Given the description of an element on the screen output the (x, y) to click on. 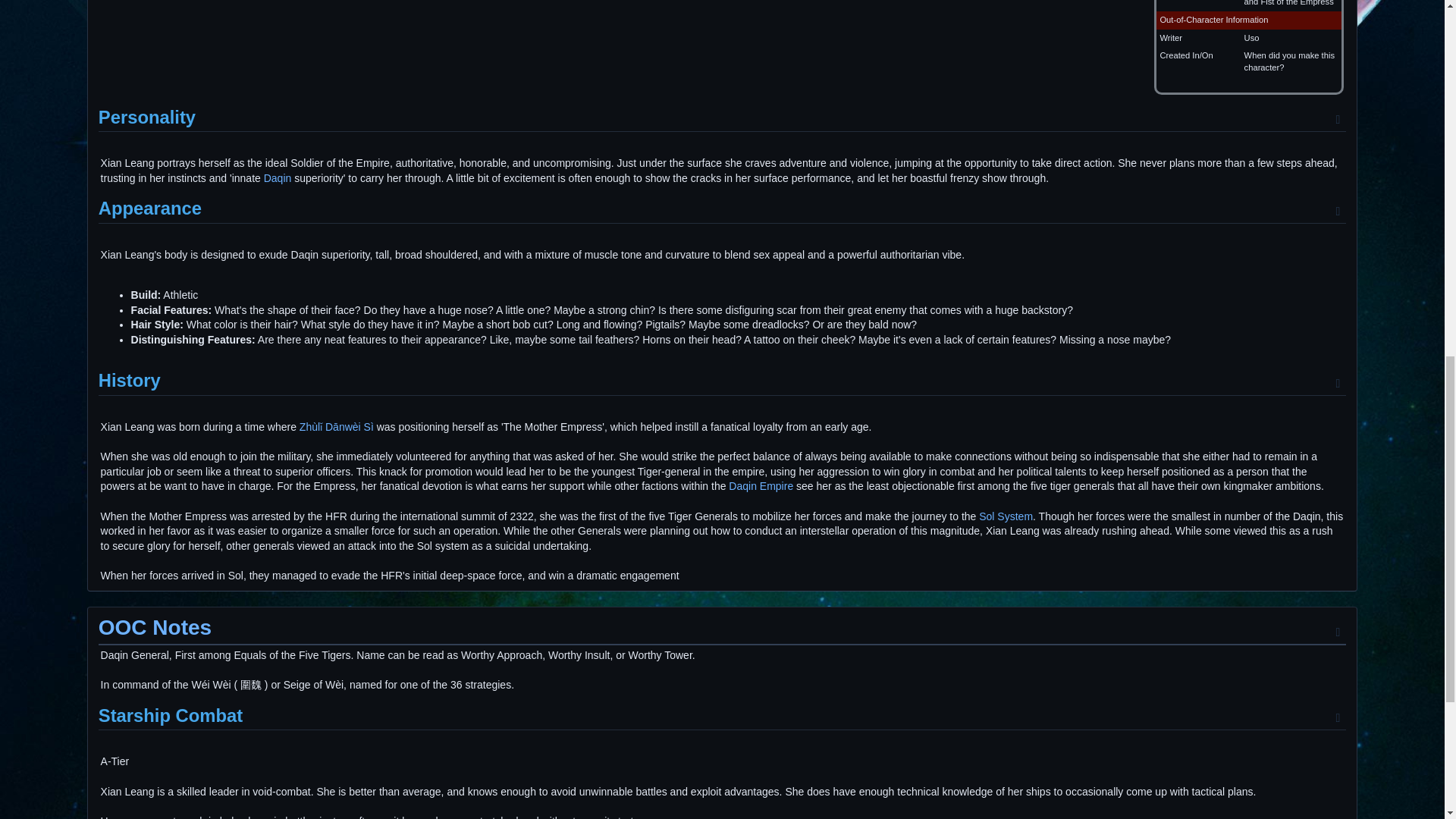
Daqin Empire (761, 485)
Daqin (277, 177)
Sol System (1005, 516)
